Given the description of an element on the screen output the (x, y) to click on. 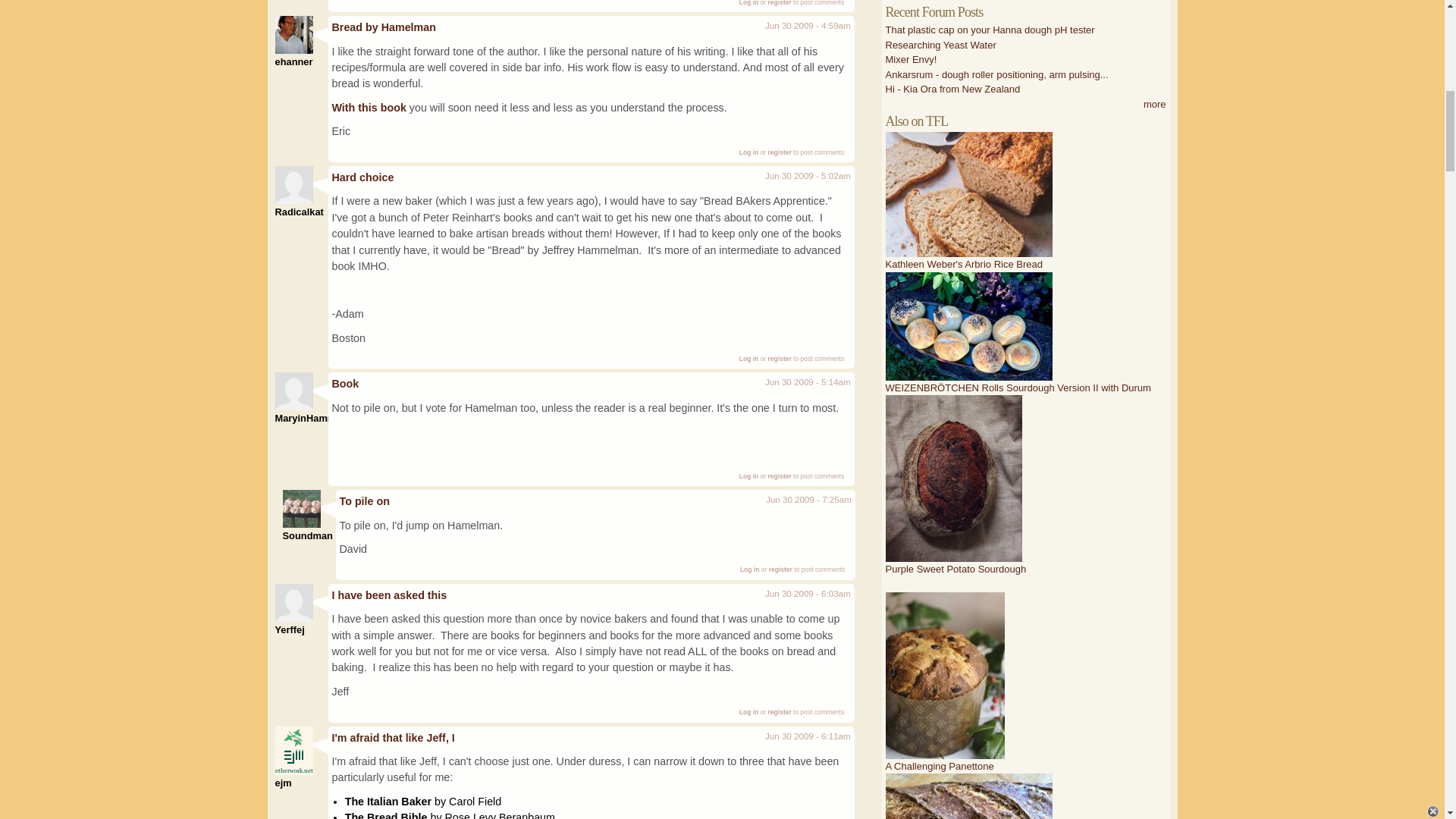
Log in (748, 152)
With this book (368, 107)
Yerffej's picture (294, 602)
register (780, 2)
Bread by Hamelman (383, 27)
Log in (748, 475)
ehanner's picture (294, 34)
Log in (748, 2)
register (780, 358)
Log in (748, 358)
Book (345, 383)
MaryinHammondsport's picture (294, 391)
register (780, 152)
Hard choice (362, 177)
Soundman's picture (301, 508)
